Given the description of an element on the screen output the (x, y) to click on. 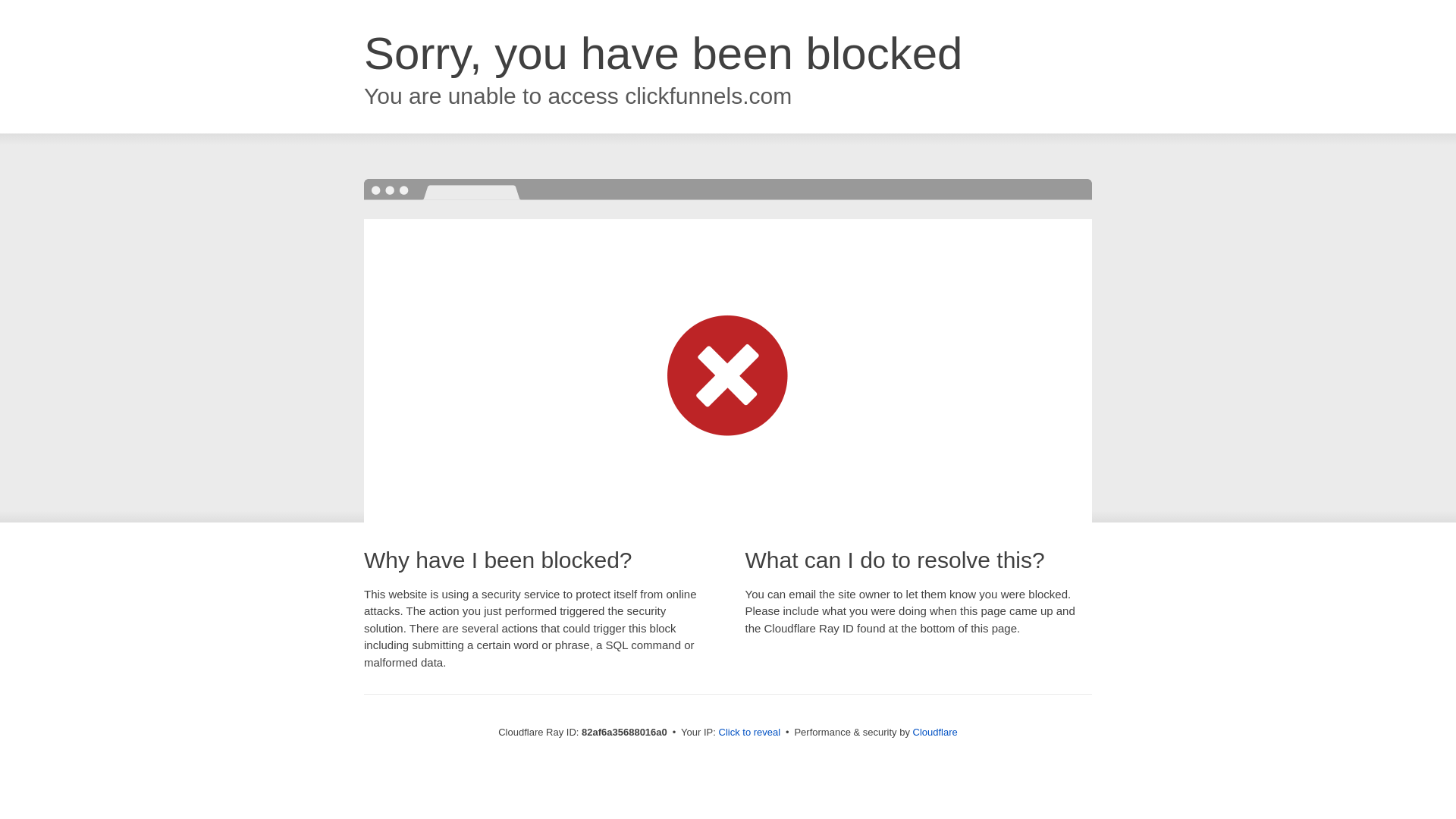
Click to reveal Element type: text (749, 732)
Cloudflare Element type: text (935, 731)
